Given the description of an element on the screen output the (x, y) to click on. 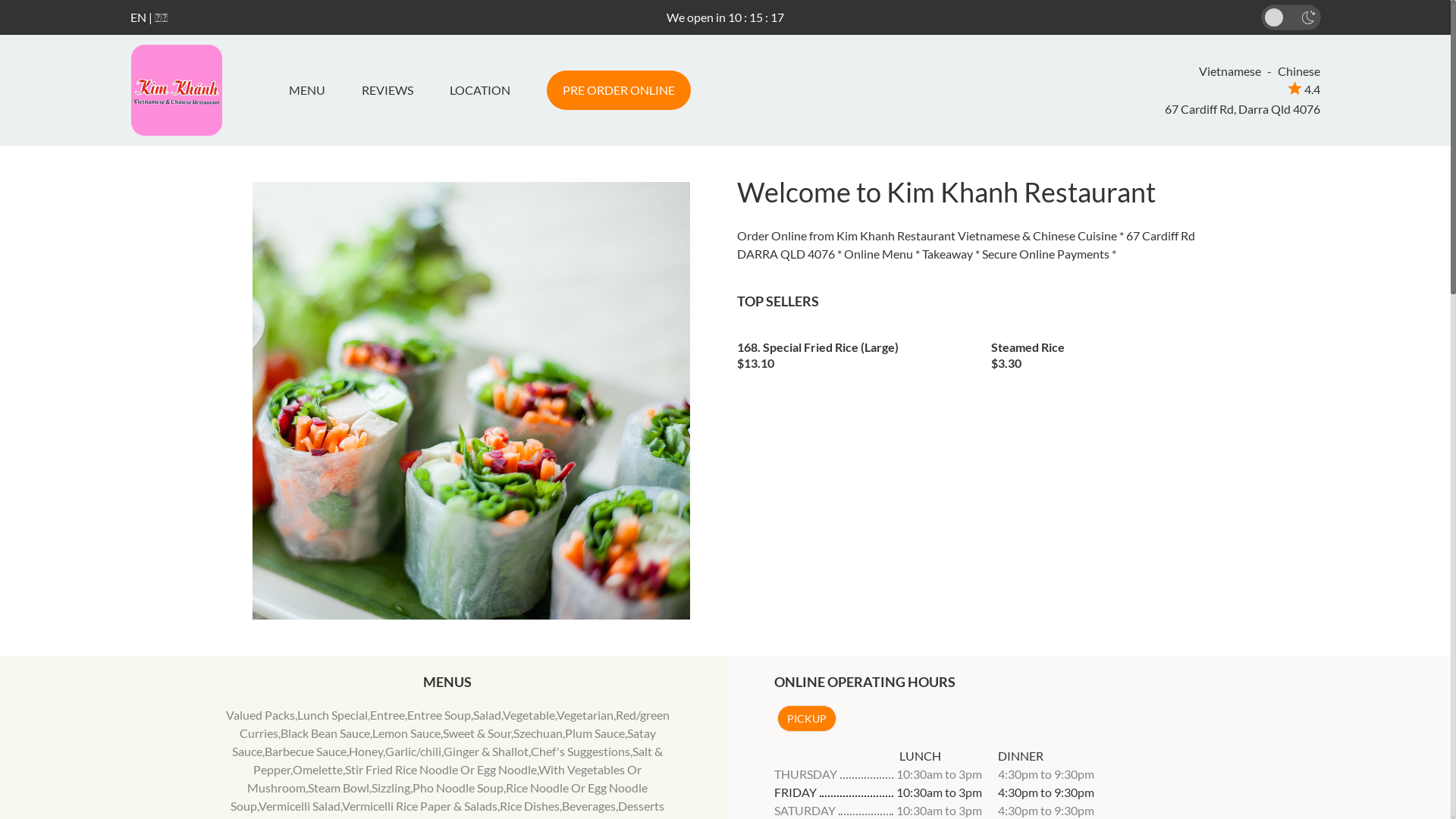
Rice Noodle Or Egg Noodle Soup Element type: text (438, 796)
Entree Element type: text (387, 714)
Omelette Element type: text (317, 769)
Plum Sauce Element type: text (594, 732)
Desserts Element type: text (641, 805)
4.4 Element type: text (1303, 88)
Barbecue Sauce Element type: text (305, 750)
Vermicelli Salad Element type: text (299, 805)
Chef's Suggestions Element type: text (580, 750)
PRE ORDER ONLINE Element type: text (618, 89)
Entree Soup Element type: text (438, 714)
Salad Element type: text (487, 714)
Black Bean Sauce Element type: text (325, 732)
Ginger & Shallot Element type: text (485, 750)
LOCATION Element type: text (478, 90)
Vegetable Element type: text (528, 714)
Sizzling Element type: text (390, 787)
Szechuan Element type: text (537, 732)
Vegetarian Element type: text (584, 714)
Honey Element type: text (365, 750)
Rice Dishes Element type: text (529, 805)
Red/green Curries Element type: text (454, 723)
EN Element type: text (138, 16)
MENU Element type: text (312, 90)
Valued Packs Element type: text (259, 714)
Steam Bowl Element type: text (338, 787)
Pho Noodle Soup Element type: text (457, 787)
REVIEWS Element type: text (386, 90)
Sweet & Sour Element type: text (476, 732)
168. Special Fried Rice (Large)
$13.10 Element type: text (853, 350)
Lemon Sauce Element type: text (406, 732)
Vermicelli Rice Paper & Salads Element type: text (419, 805)
Lunch Special Element type: text (332, 714)
Beverages Element type: text (588, 805)
Salt & Pepper Element type: text (457, 759)
Satay Sauce Element type: text (443, 741)
Garlic/chili Element type: text (413, 750)
Steamed Rice
$3.30 Element type: text (1107, 350)
PICKUP Element type: text (805, 718)
Stir Fried Rice Noodle Or Egg Noodle Element type: text (440, 769)
With Vegetables Or Mushroom Element type: text (444, 778)
